Given the description of an element on the screen output the (x, y) to click on. 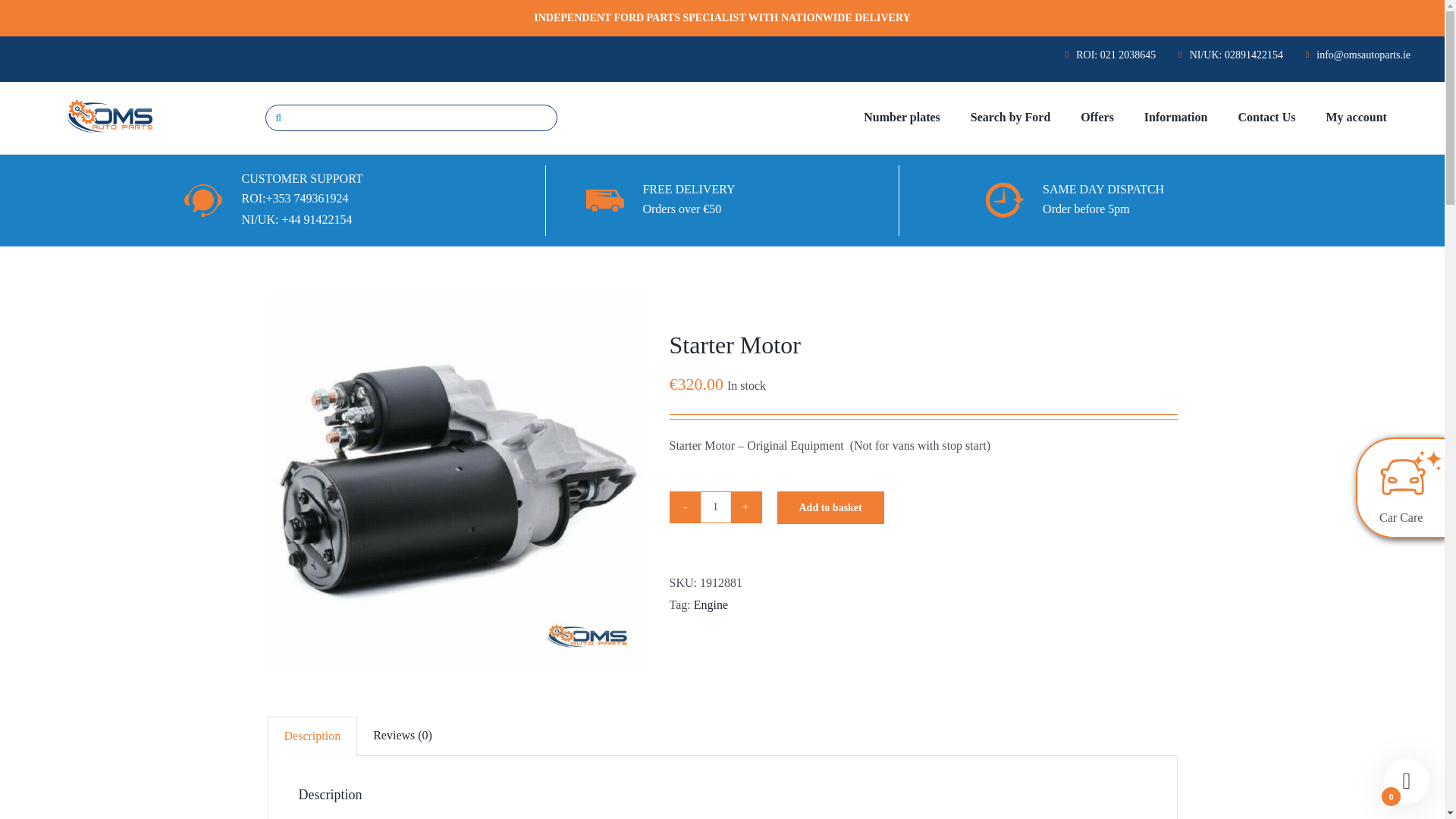
Free Delivery (605, 200)
Search by Ford (1010, 117)
Number plates (901, 117)
Same Day Dispatch (1004, 199)
ROI: 021 2038645 (1110, 55)
- (684, 507)
Customer Support (203, 200)
1 (715, 507)
